Given the description of an element on the screen output the (x, y) to click on. 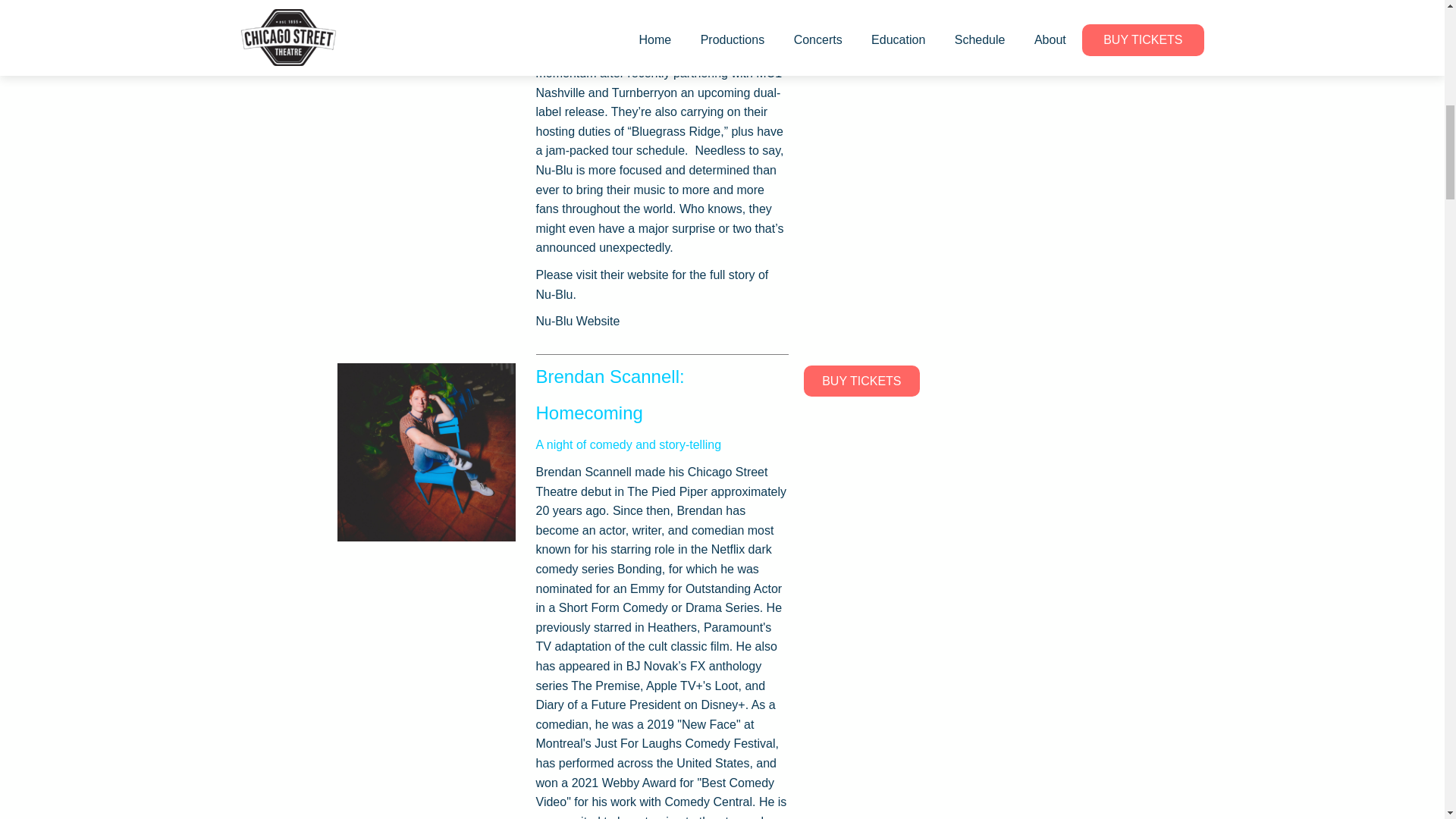
Nu-Blu Website (577, 320)
BUY TICKETS (860, 381)
